Given the description of an element on the screen output the (x, y) to click on. 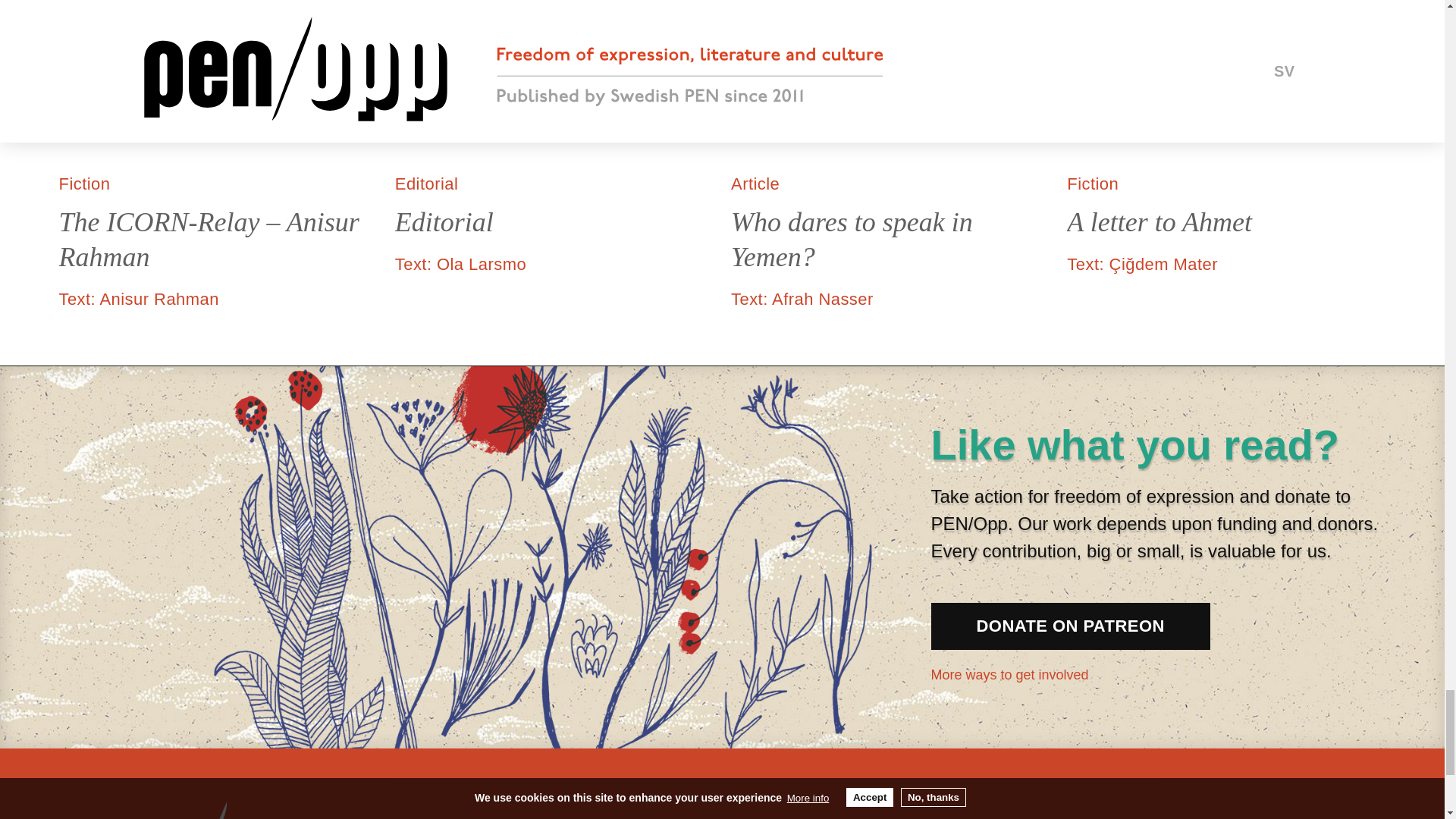
Who dares to speak in Yemen? (889, 239)
Editorial (553, 222)
More ways to get involved (1026, 675)
DONATE ON PATREON (1070, 626)
A letter to Ahmet (1226, 222)
